Given the description of an element on the screen output the (x, y) to click on. 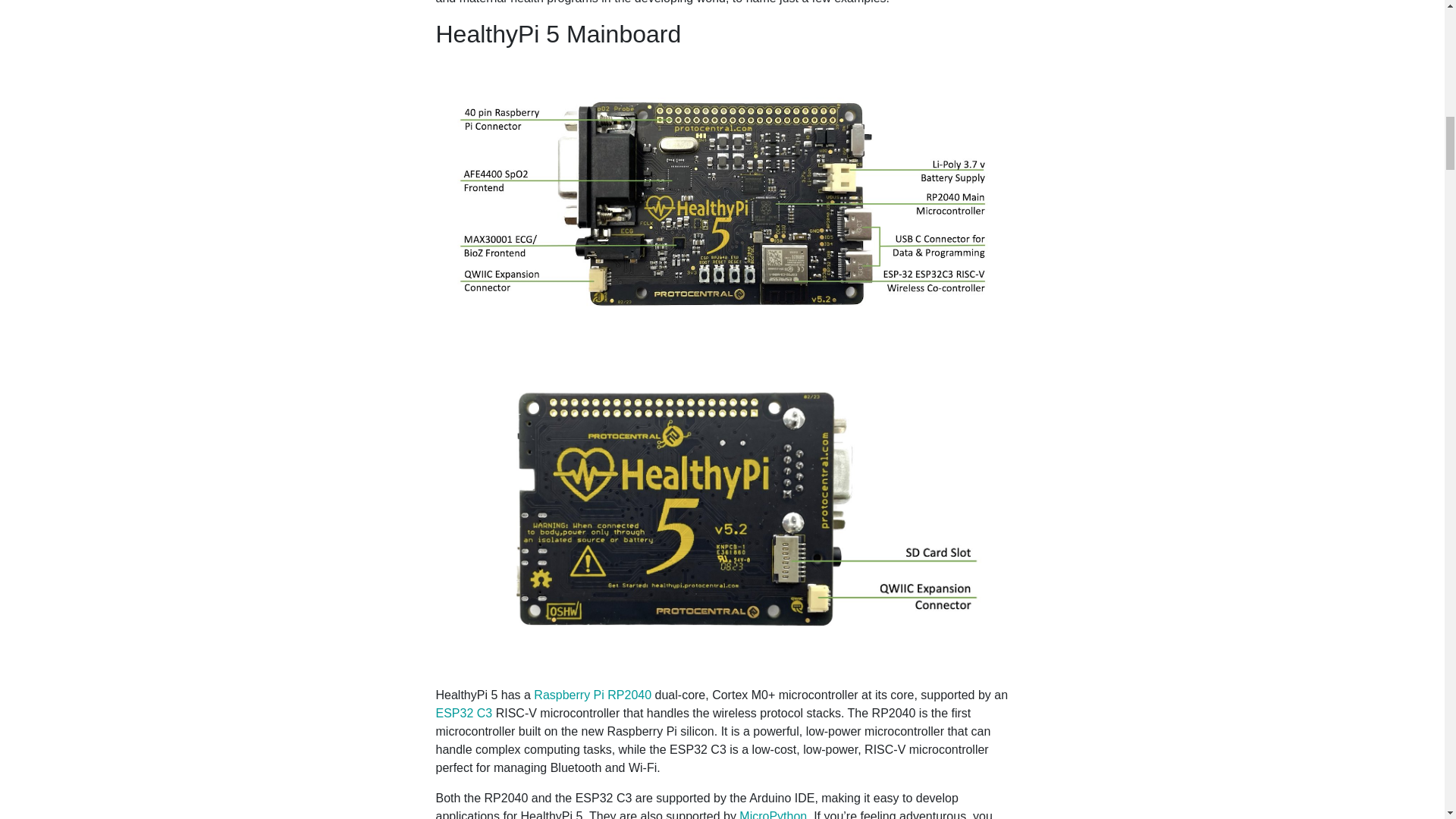
MicroPython (772, 814)
ESP32 C3 (463, 712)
Raspberry Pi RP2040 (592, 694)
